Given the description of an element on the screen output the (x, y) to click on. 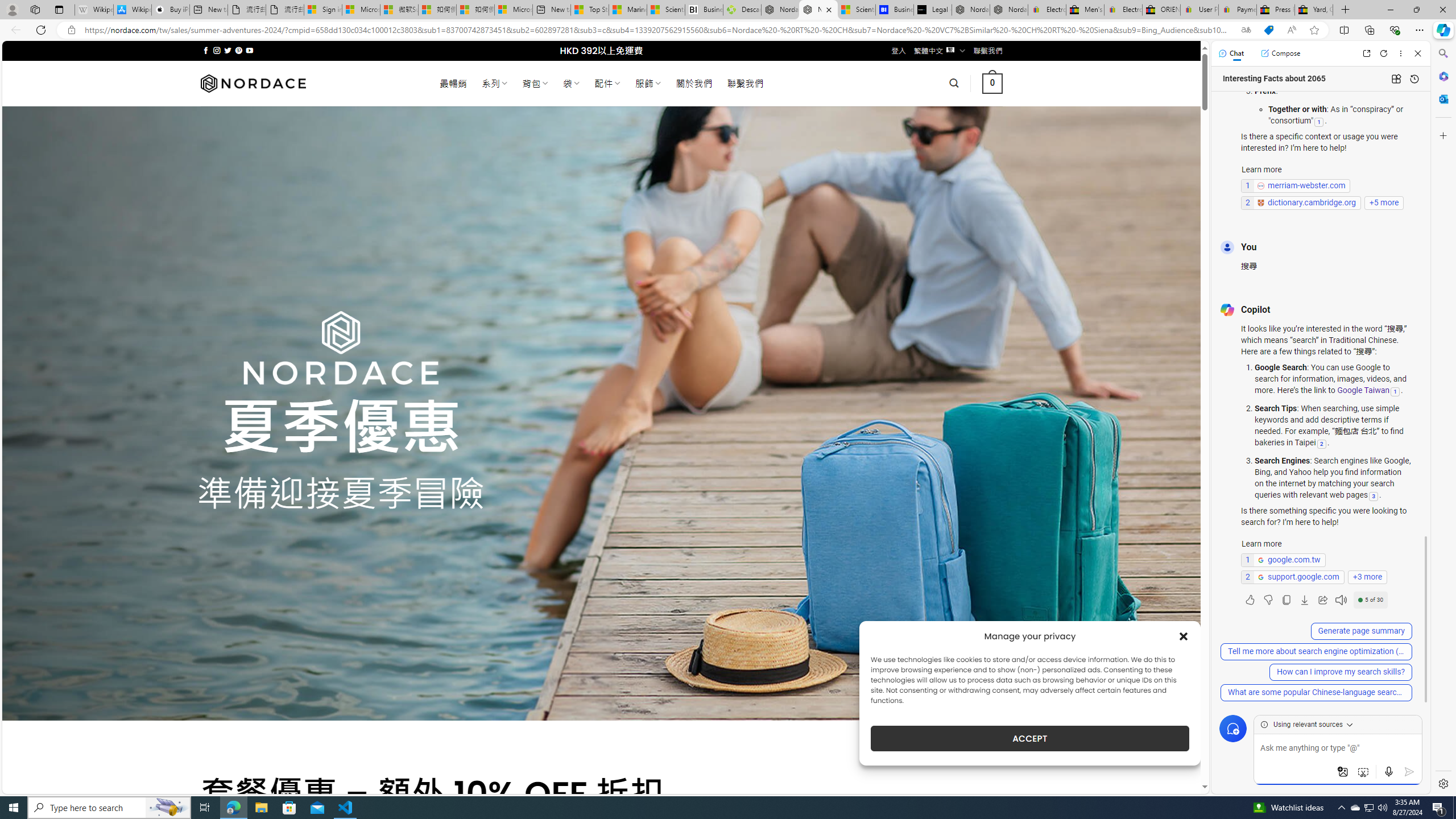
Follow on Instagram (216, 50)
